Given the description of an element on the screen output the (x, y) to click on. 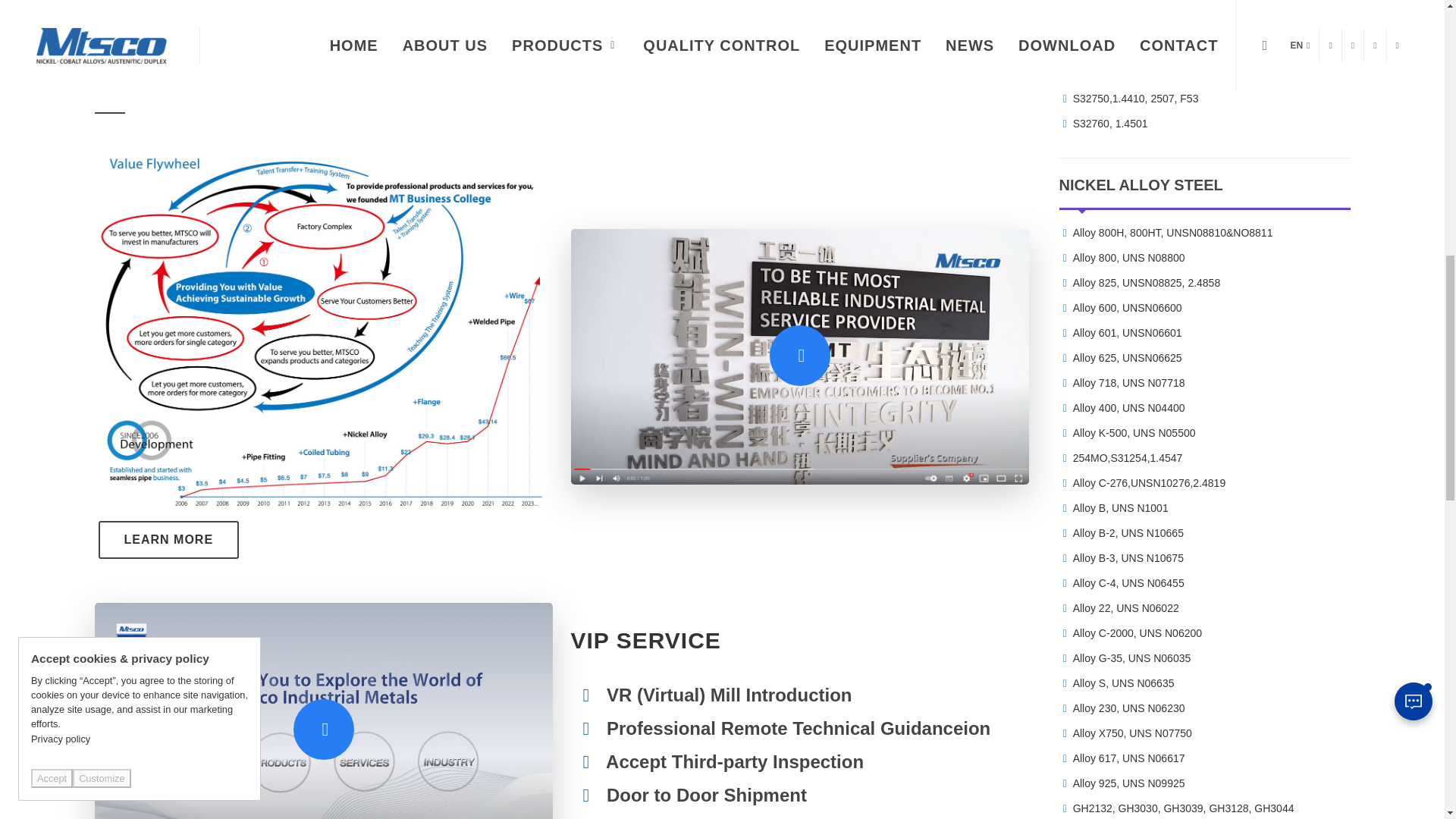
LEARN MORE (169, 539)
